Given the description of an element on the screen output the (x, y) to click on. 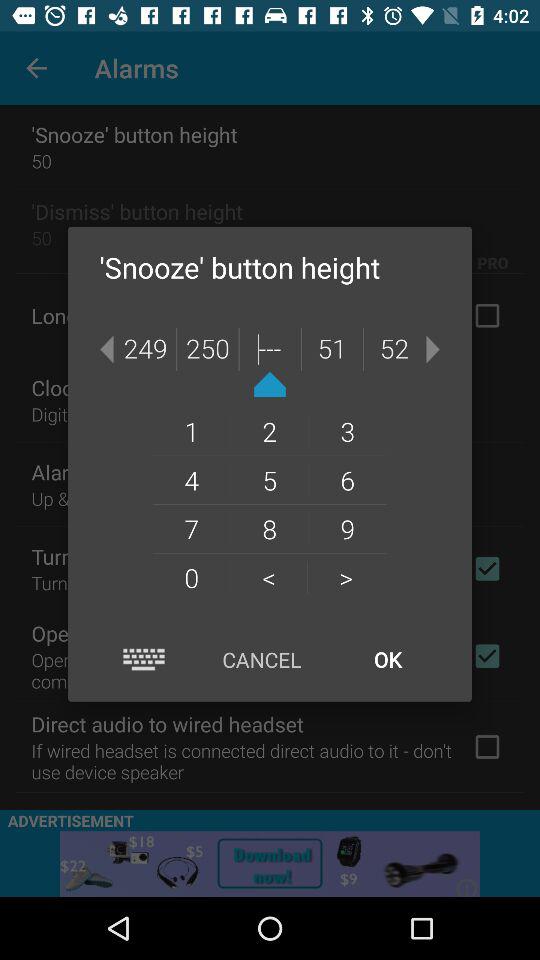
click item above the cancel icon (345, 577)
